Given the description of an element on the screen output the (x, y) to click on. 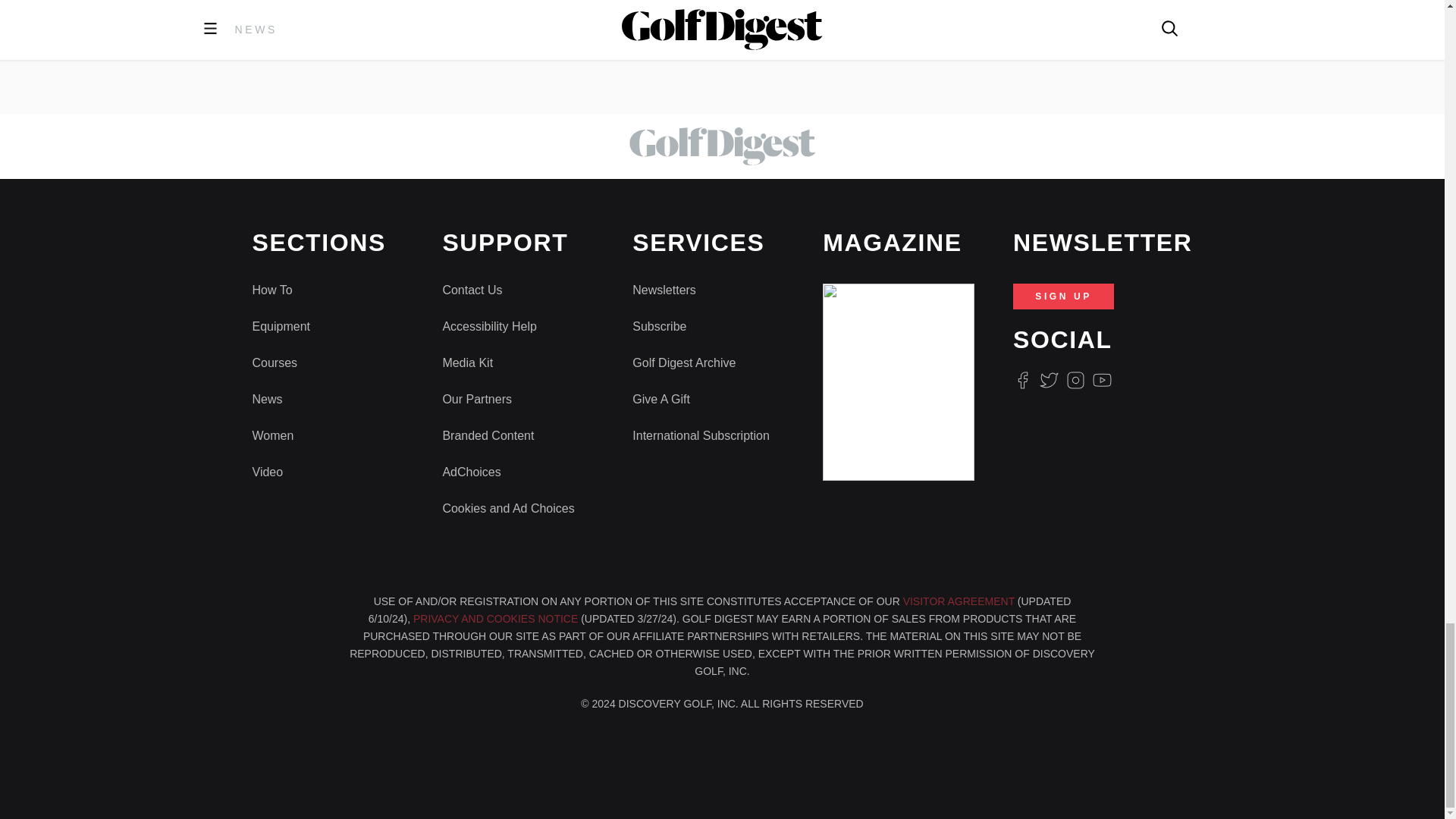
Twitter Logo (1048, 380)
Youtube Icon (1102, 380)
Instagram Logo (1074, 380)
Facebook Logo (1022, 380)
